Given the description of an element on the screen output the (x, y) to click on. 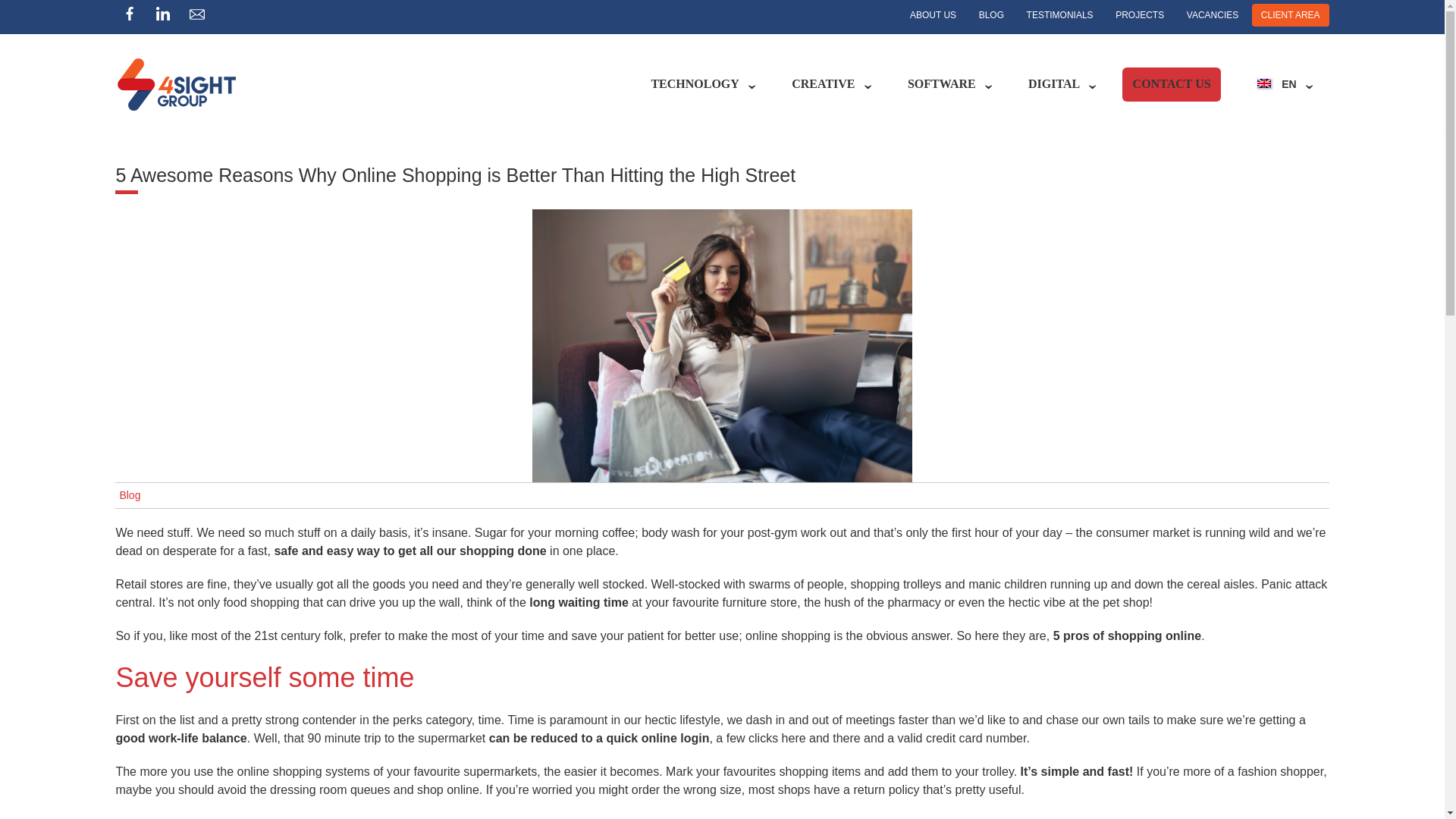
BLOG (991, 15)
PROJECTS (1139, 15)
CREATIVE (822, 84)
TESTIMONIALS (1059, 15)
CLIENT AREA (1290, 15)
TECHNOLOGY (694, 84)
En (1276, 84)
VACANCIES (1212, 15)
ABOUT US (933, 15)
